Given the description of an element on the screen output the (x, y) to click on. 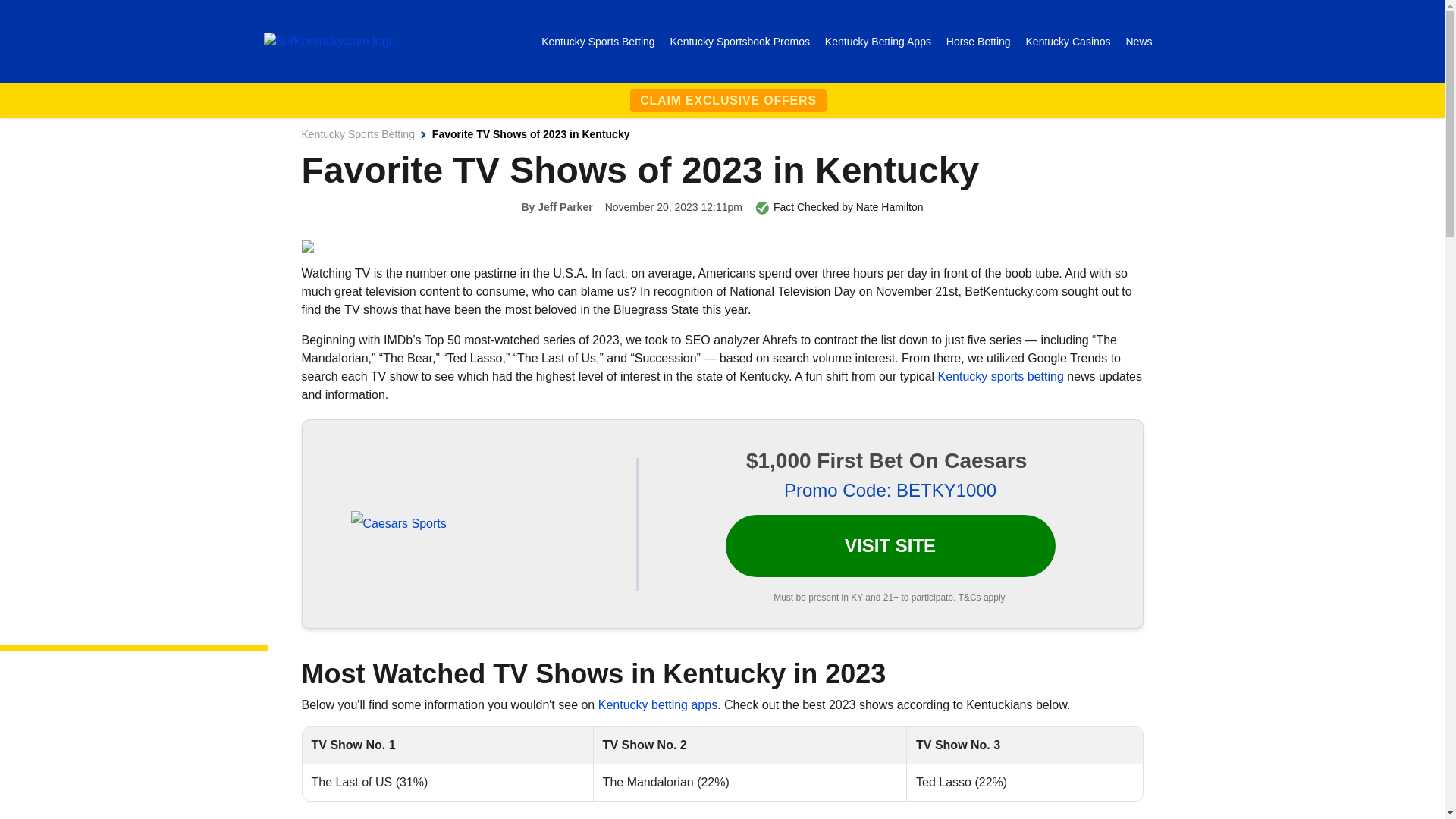
Horse Betting (979, 41)
Kentucky Betting Apps (879, 41)
Kentucky Sportsbook Promos (740, 41)
Caesars Sports (397, 524)
BetKentucky.com logo (329, 41)
Kentucky Sports Betting (357, 133)
Kentucky Casinos (1069, 41)
Kentucky Sports Betting (599, 41)
